Given the description of an element on the screen output the (x, y) to click on. 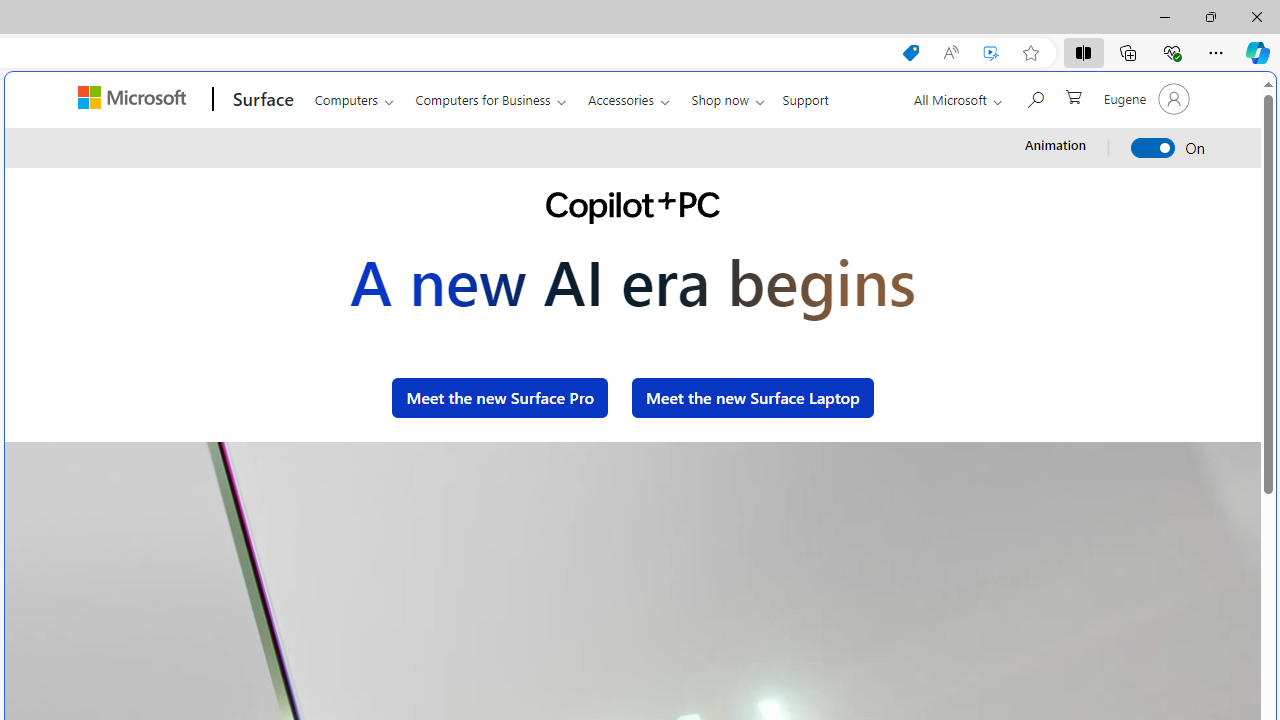
Surface (260, 99)
